Given the description of an element on the screen output the (x, y) to click on. 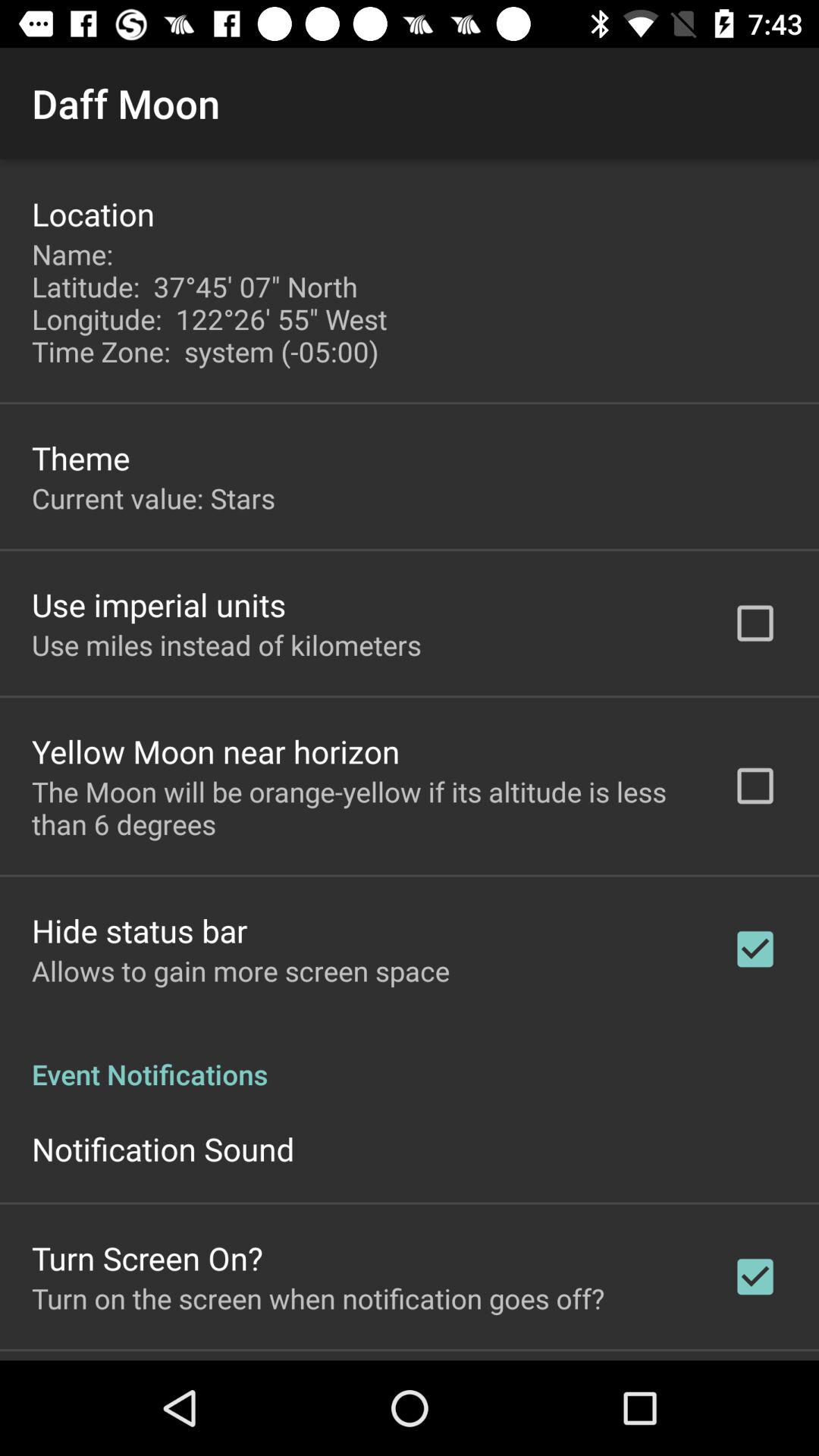
select the app above notification sound item (409, 1058)
